Given the description of an element on the screen output the (x, y) to click on. 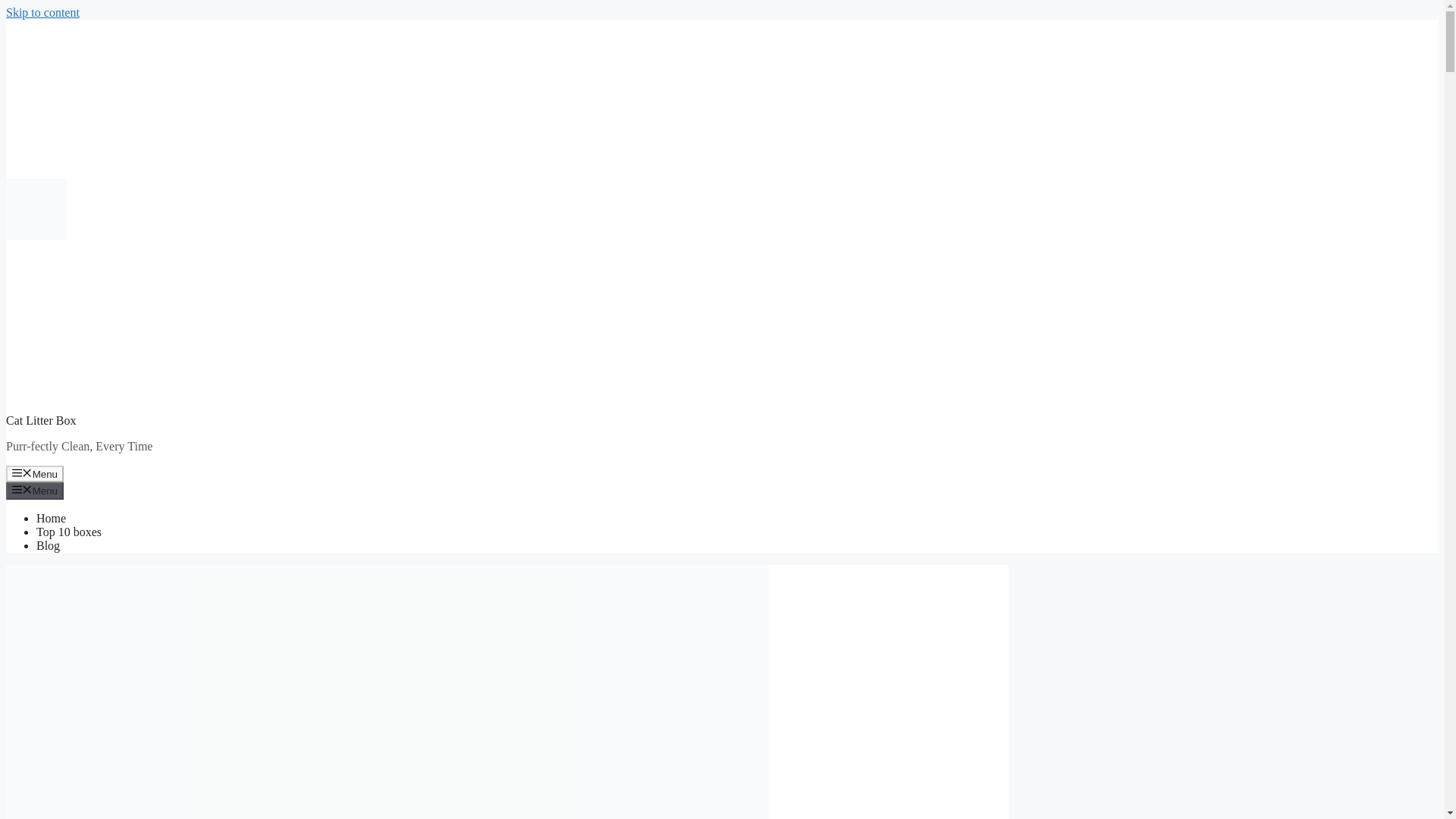
Cat Litter Box (40, 420)
Skip to content (42, 11)
Home (50, 517)
Blog (47, 545)
Top 10 boxes (68, 531)
Skip to content (42, 11)
Menu (34, 474)
Menu (34, 490)
